Given the description of an element on the screen output the (x, y) to click on. 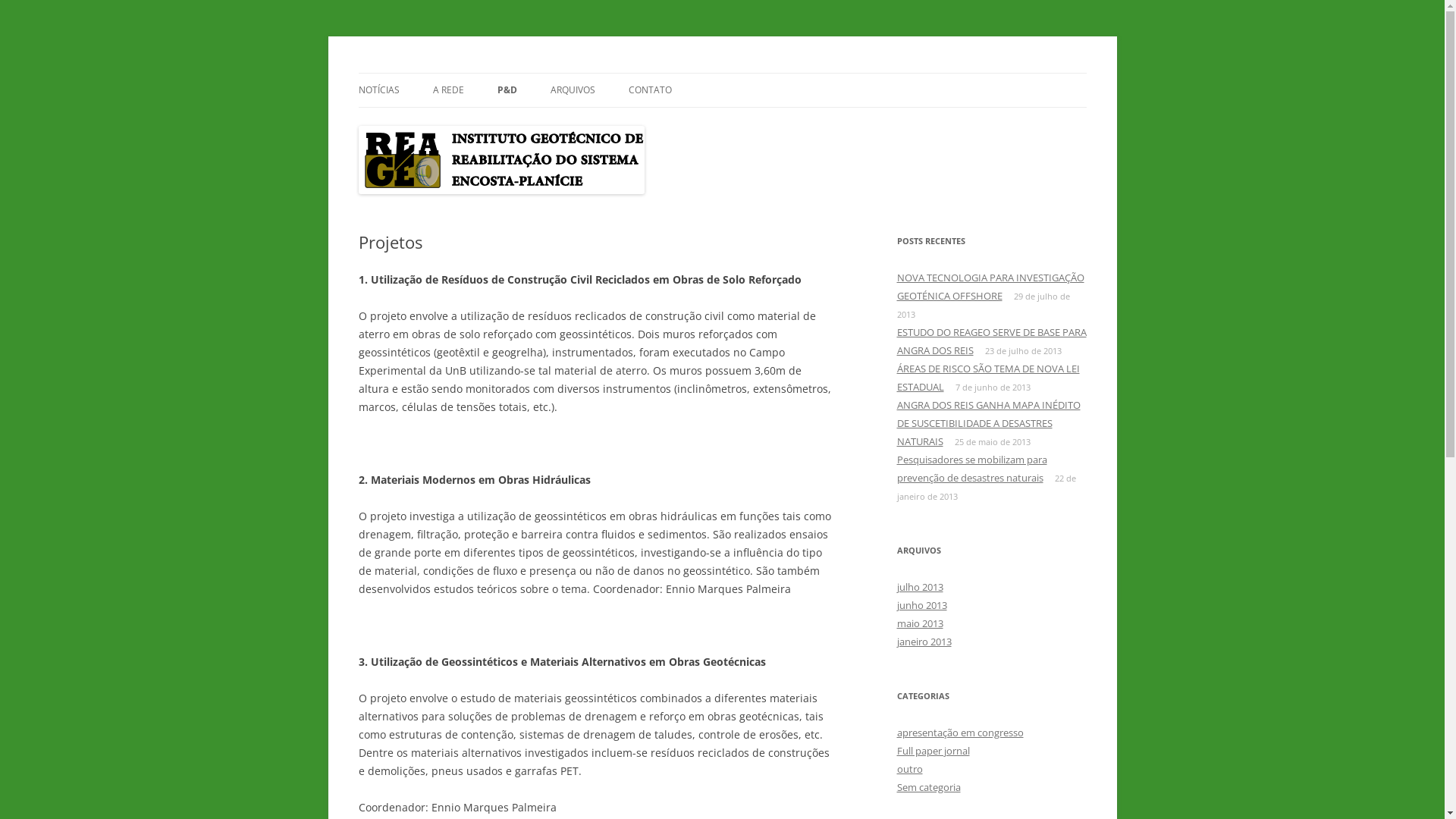
julho 2013 Element type: text (919, 586)
A REDE Element type: text (447, 89)
ARQUIVOS Element type: text (572, 89)
ESTUDO DO REAGEO SERVE DE BASE PARA ANGRA DOS REIS Element type: text (990, 341)
maio 2013 Element type: text (919, 623)
ARTIGOS Element type: text (573, 122)
CONTATO Element type: text (649, 89)
Full paper jornal Element type: text (932, 750)
P&D Element type: text (507, 89)
janeiro 2013 Element type: text (923, 641)
ARQUIVOS Element type: text (626, 122)
junho 2013 Element type: text (921, 604)
outro Element type: text (909, 768)
Sem categoria Element type: text (928, 786)
